Given the description of an element on the screen output the (x, y) to click on. 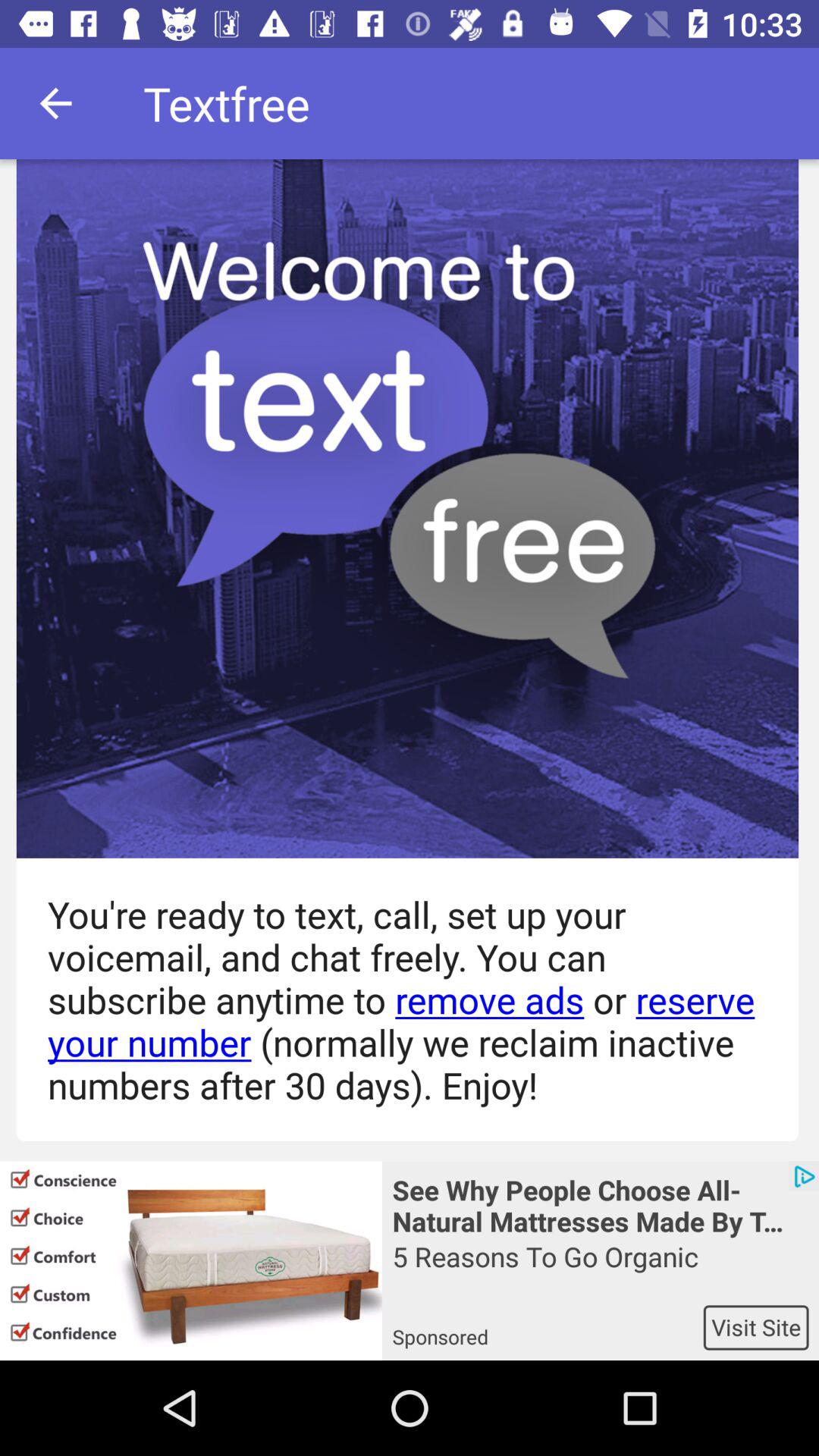
choose the icon to the left of the textfree (55, 103)
